Given the description of an element on the screen output the (x, y) to click on. 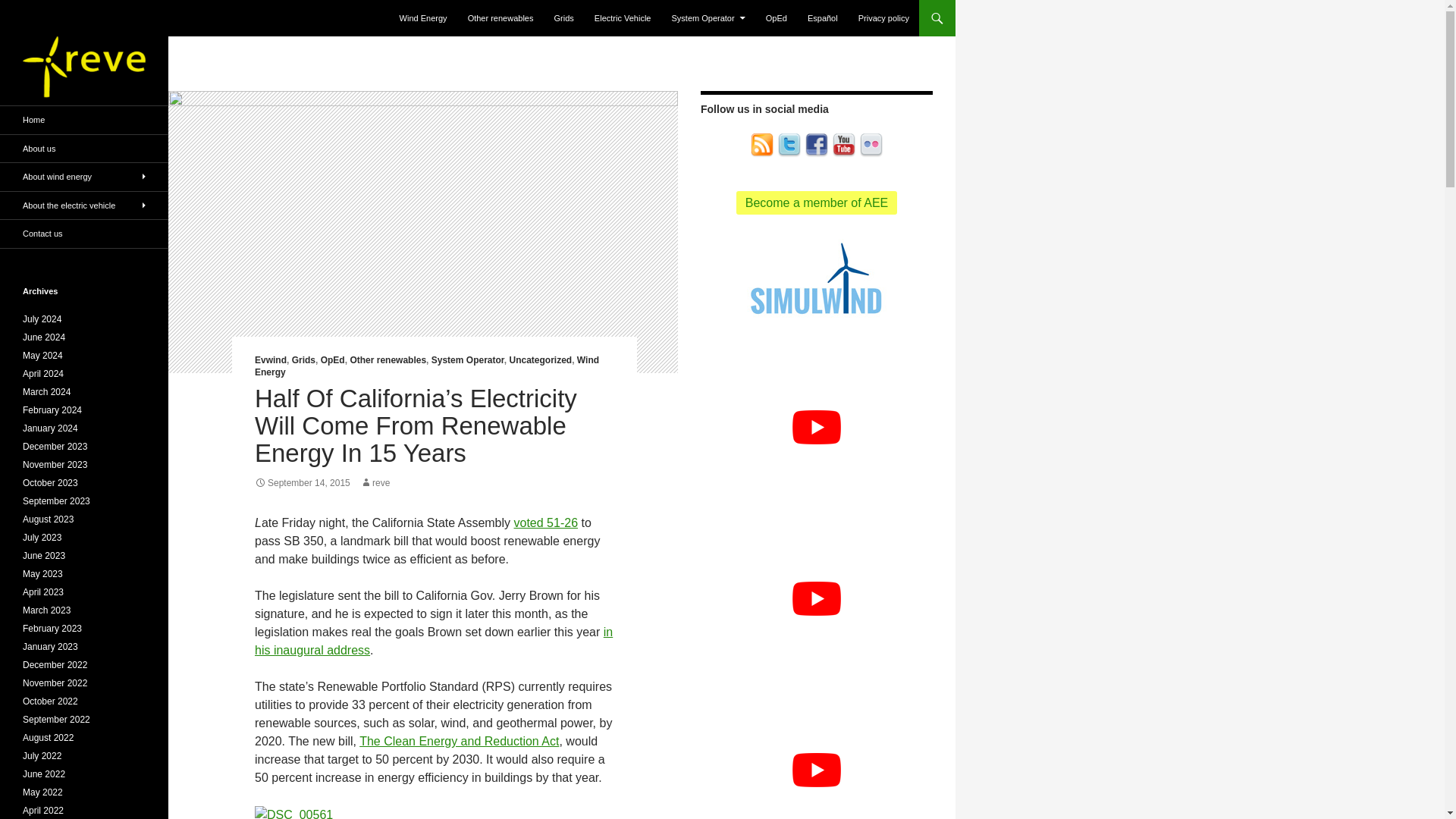
Electric Vehicle (623, 18)
youtube (843, 144)
youtube (843, 145)
Evwind (270, 359)
twitter (789, 144)
September 14, 2015 (302, 482)
Other renewables (387, 359)
flickr (871, 144)
RSS (762, 144)
flickr (871, 145)
OpEd (776, 18)
Uncategorized (540, 359)
Grids (563, 18)
System Operator (708, 18)
Other renewables (500, 18)
